Given the description of an element on the screen output the (x, y) to click on. 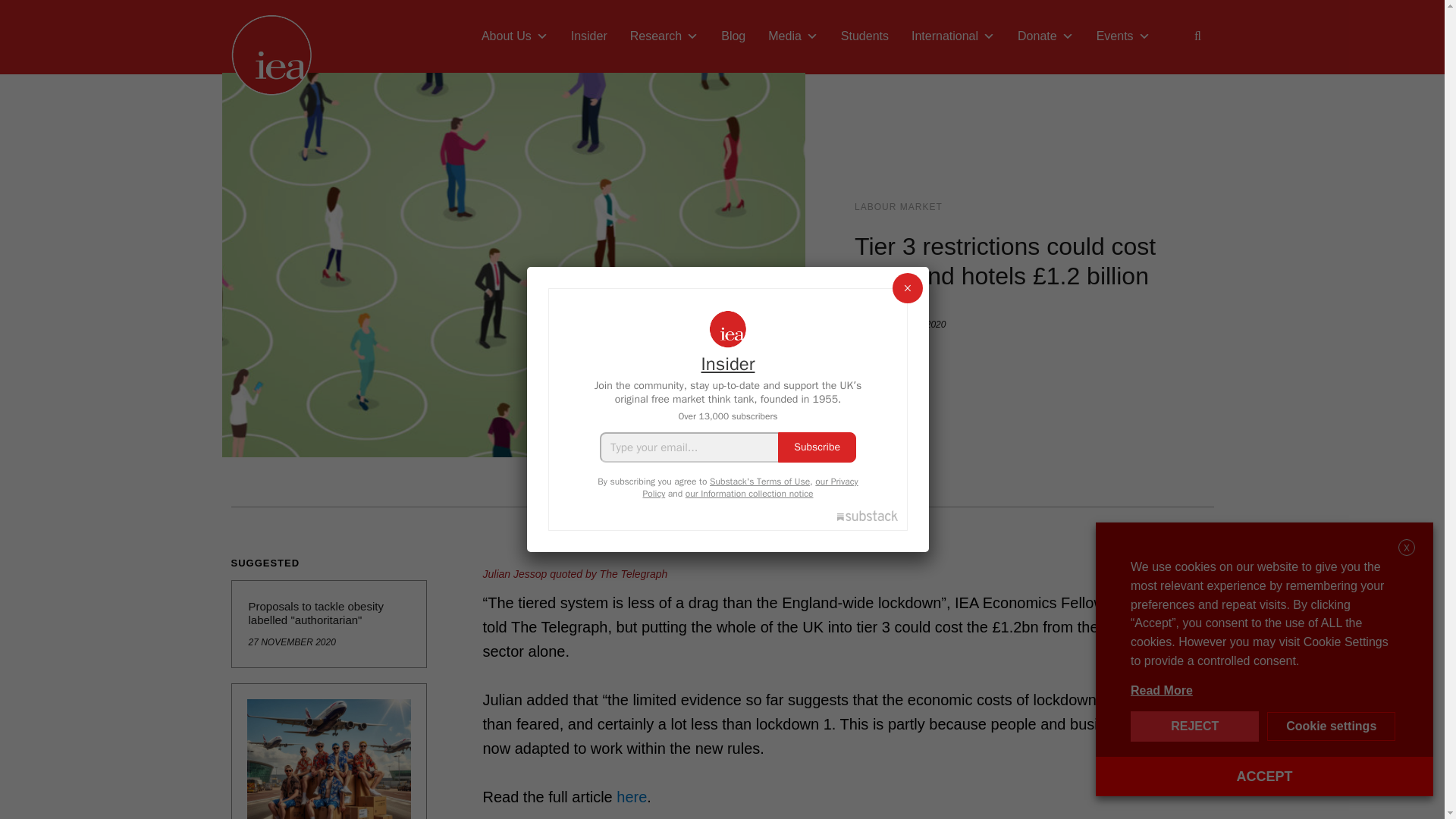
About Us (514, 36)
Research (664, 36)
Donate (1045, 36)
Close and Accept (1406, 547)
Insider (588, 36)
Blog (733, 36)
Media (793, 36)
Students (864, 36)
International (952, 36)
